Given the description of an element on the screen output the (x, y) to click on. 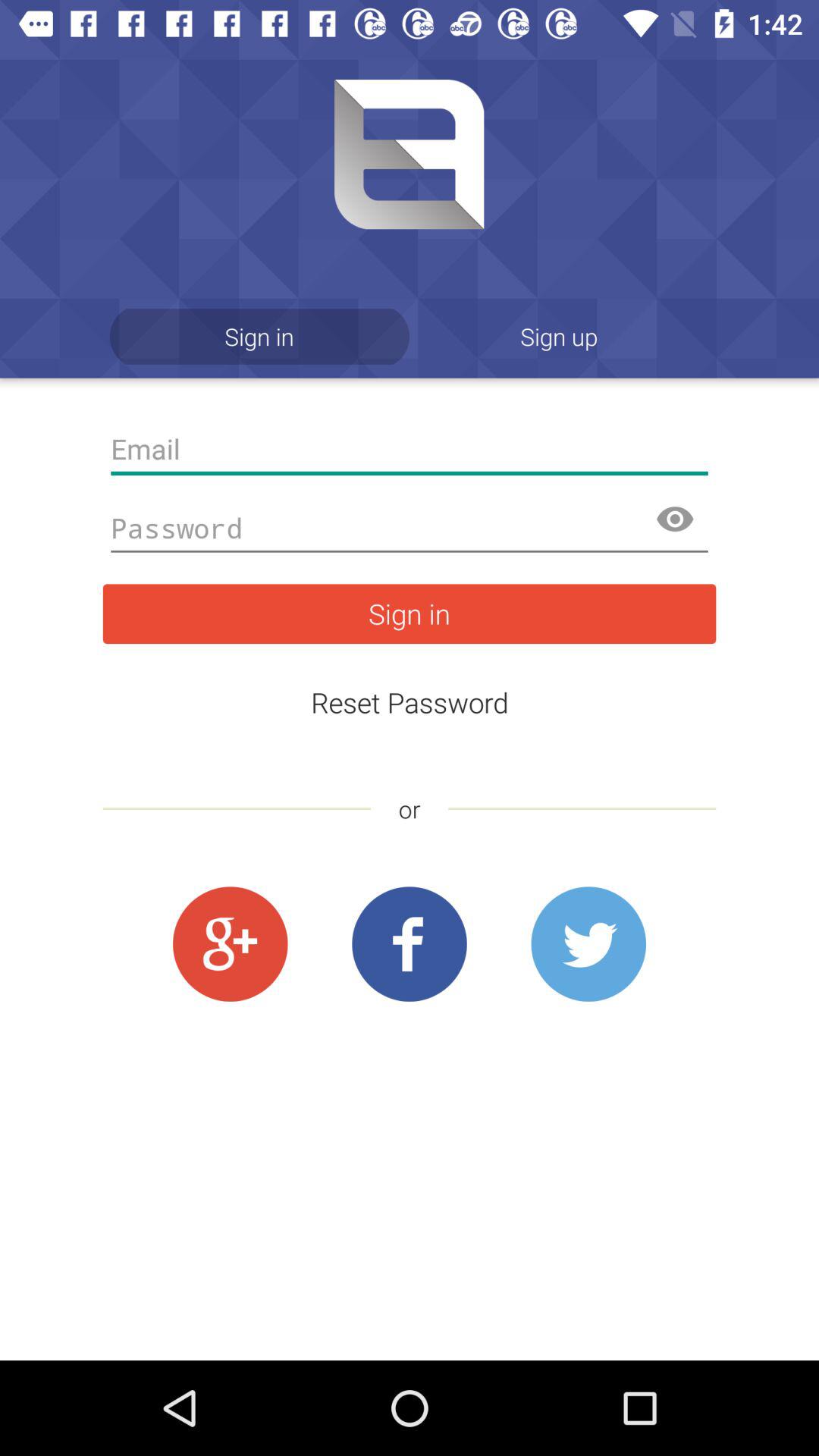
choose the icon above the or item (409, 702)
